Given the description of an element on the screen output the (x, y) to click on. 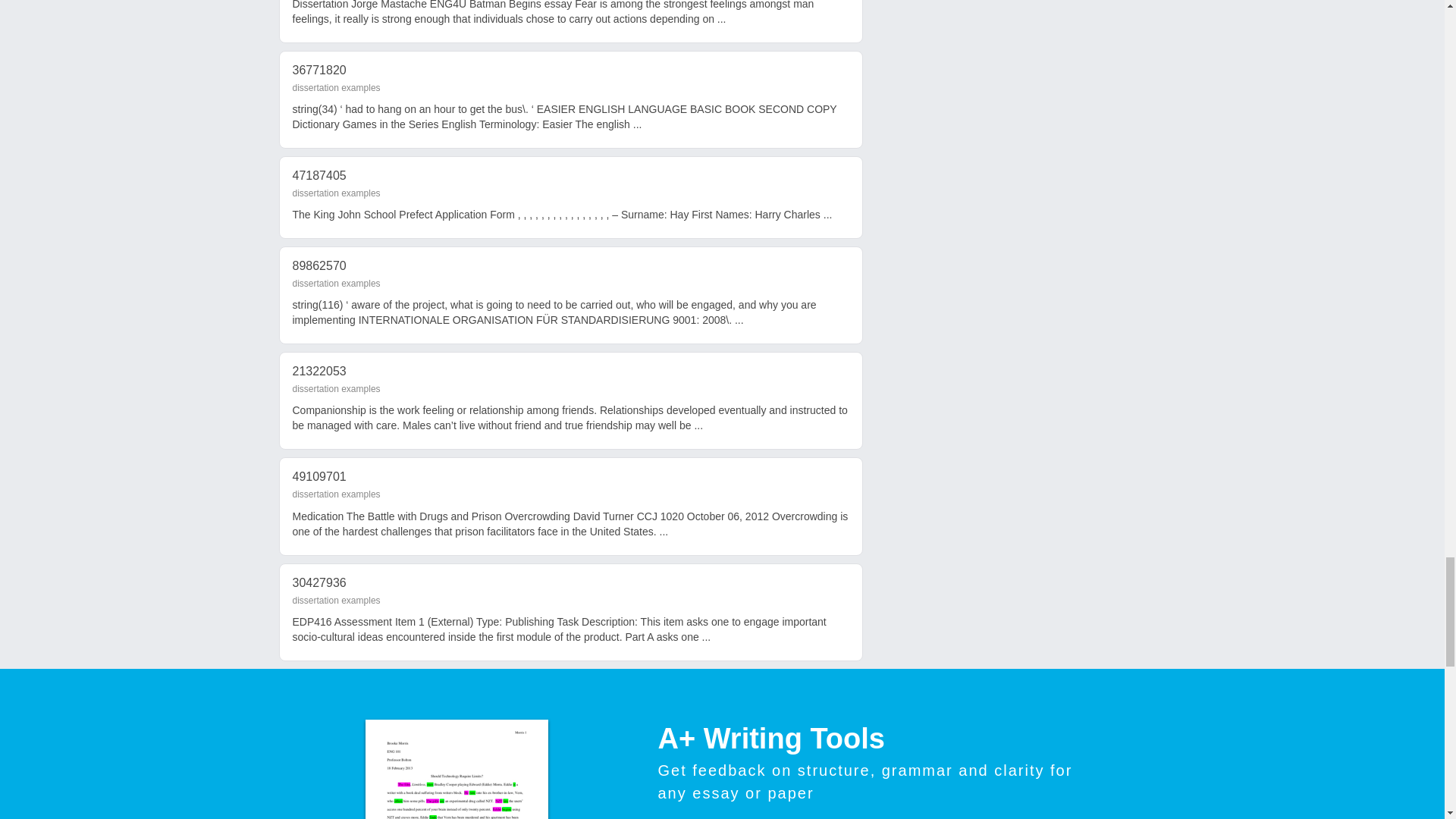
dissertation examples (336, 493)
dissertation examples (336, 388)
49109701 (319, 476)
47187405 (319, 174)
89862570 (319, 265)
21322053 (319, 370)
dissertation examples (336, 193)
dissertation examples (336, 87)
dissertation examples (336, 283)
36771820 (319, 69)
